Given the description of an element on the screen output the (x, y) to click on. 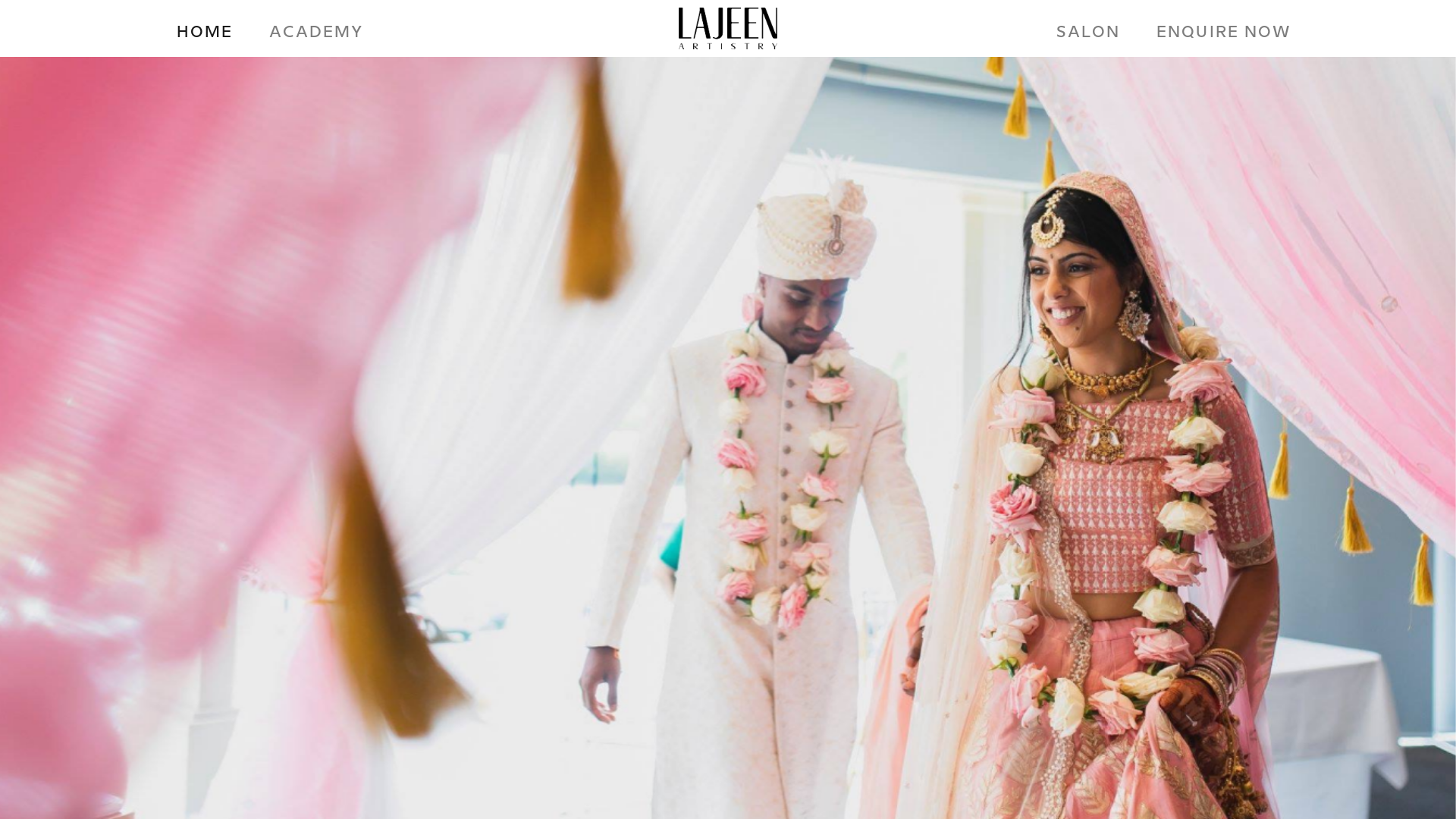
ACADEMY Element type: text (316, 32)
ENQUIRE NOW Element type: text (1223, 32)
HOME
HOME Element type: text (204, 32)
SALON Element type: text (1088, 32)
